Given the description of an element on the screen output the (x, y) to click on. 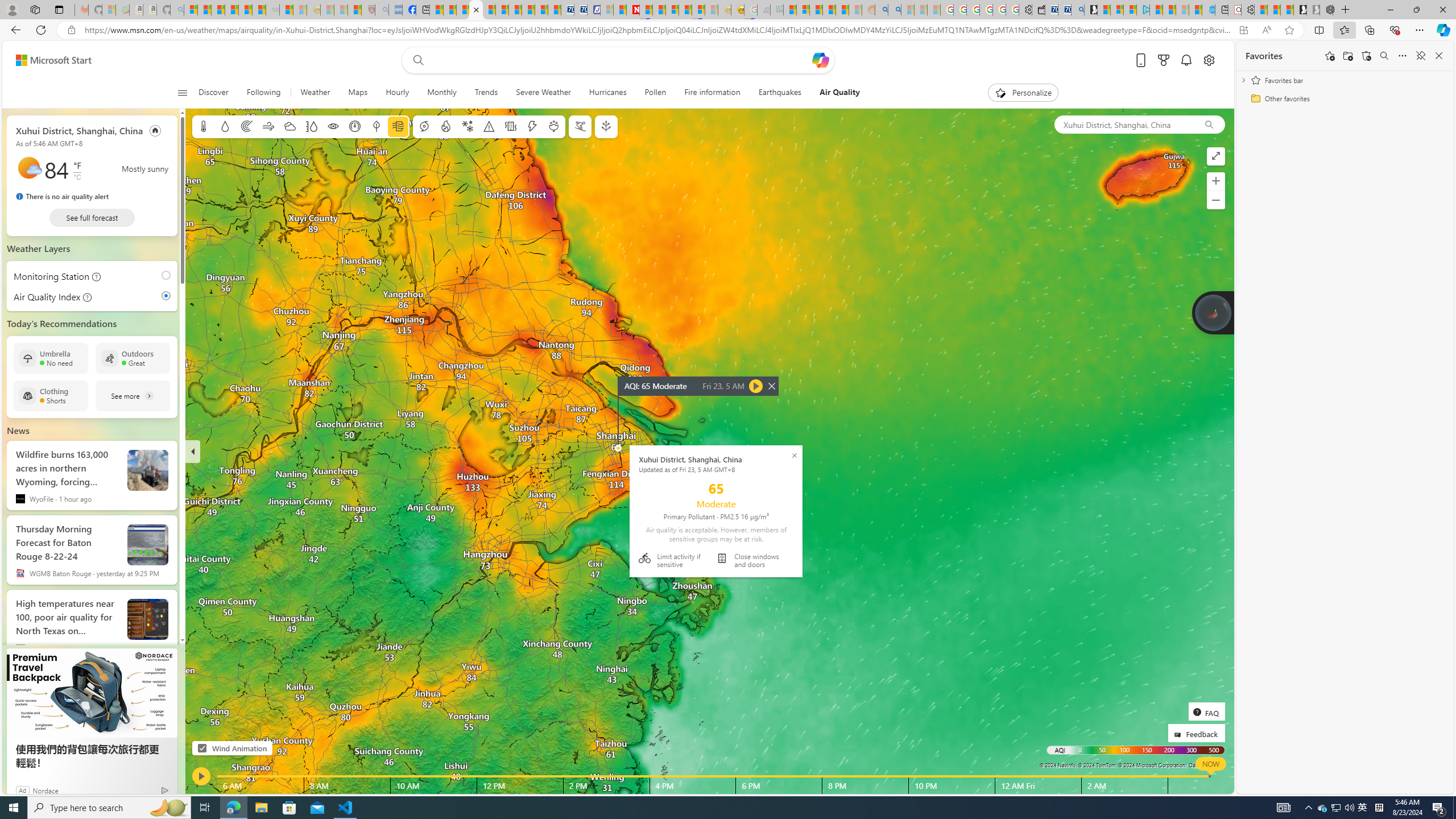
Trends (485, 92)
Data Providers (1205, 765)
Clothing Shorts (50, 395)
Monthly (441, 92)
Air quality (397, 126)
Hide (192, 450)
Thursday Morning Forecast for Baton Rouge 8-22-24 (148, 544)
Join us in planting real trees to help our planet! (1213, 311)
Cheap Car Rentals - Save70.com (1063, 9)
Thursday Morning Forecast for Baton Rouge 8-22-24 (67, 540)
Skip to footer (46, 59)
Stocks - MSN (258, 9)
